Given the description of an element on the screen output the (x, y) to click on. 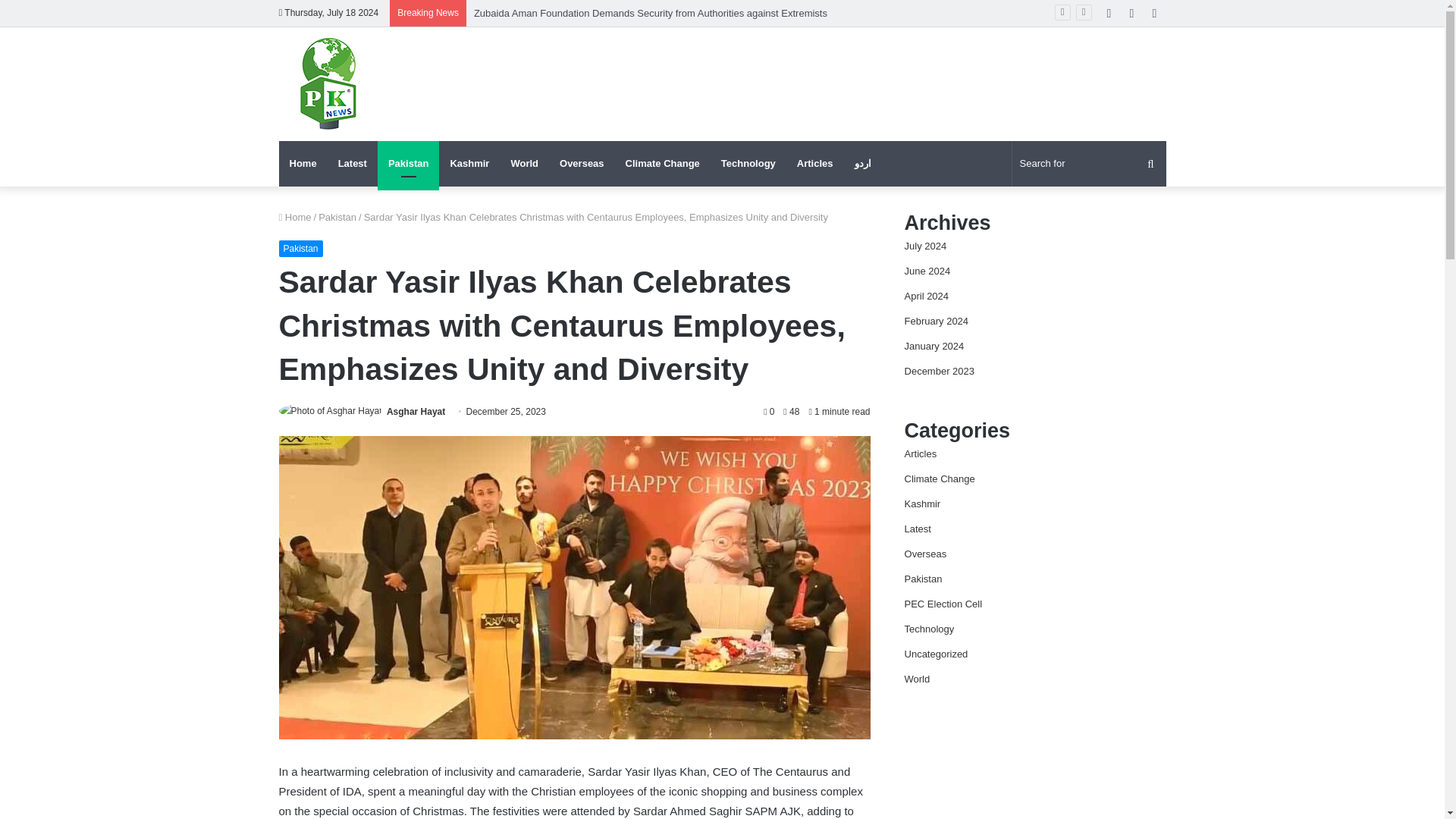
Asghar Hayat (416, 411)
Kashmir (469, 163)
Climate Change (662, 163)
Pakistan (337, 216)
Articles (815, 163)
Pakistan (408, 163)
Pakistan (301, 248)
Asghar Hayat (416, 411)
Technology (748, 163)
Latest (352, 163)
PK News (328, 84)
Search for (1088, 163)
Home (303, 163)
World (523, 163)
